Given the description of an element on the screen output the (x, y) to click on. 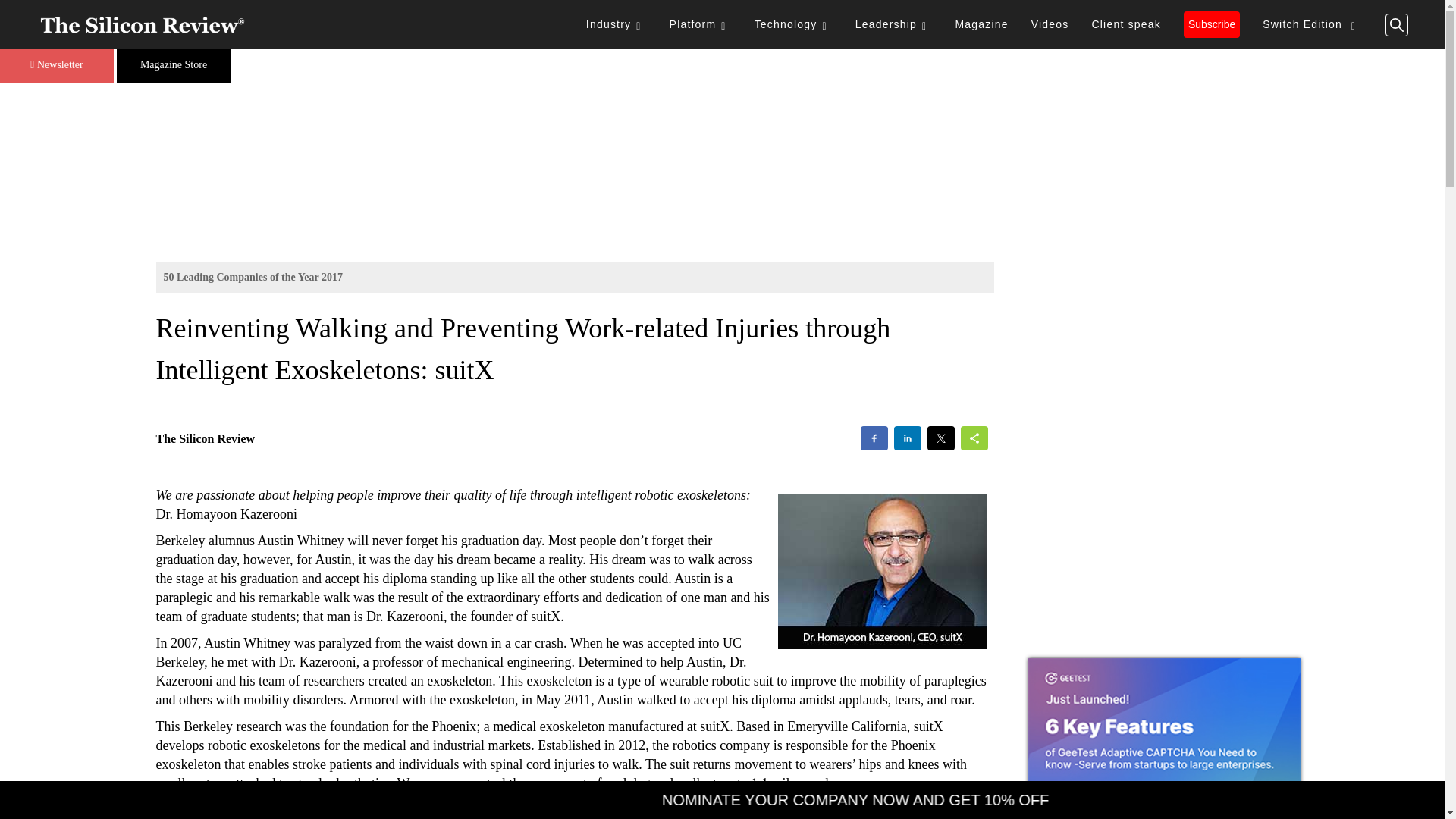
Platform (700, 24)
Industry (616, 24)
Advertisement (1163, 547)
Advertisement (574, 809)
Advertisement (1163, 330)
Advertisement (721, 151)
